Given the description of an element on the screen output the (x, y) to click on. 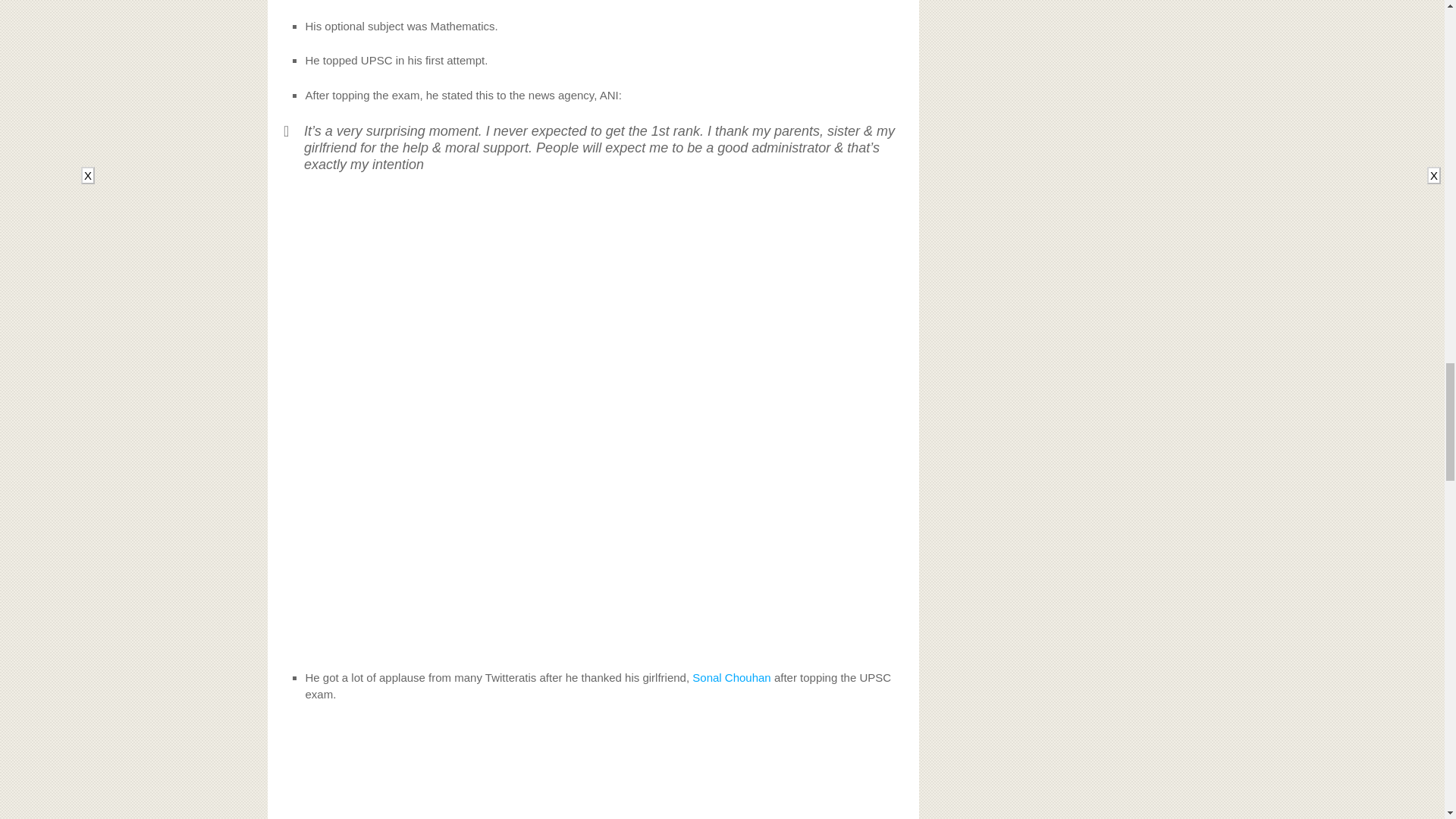
Sonal Chouhan (731, 676)
